Given the description of an element on the screen output the (x, y) to click on. 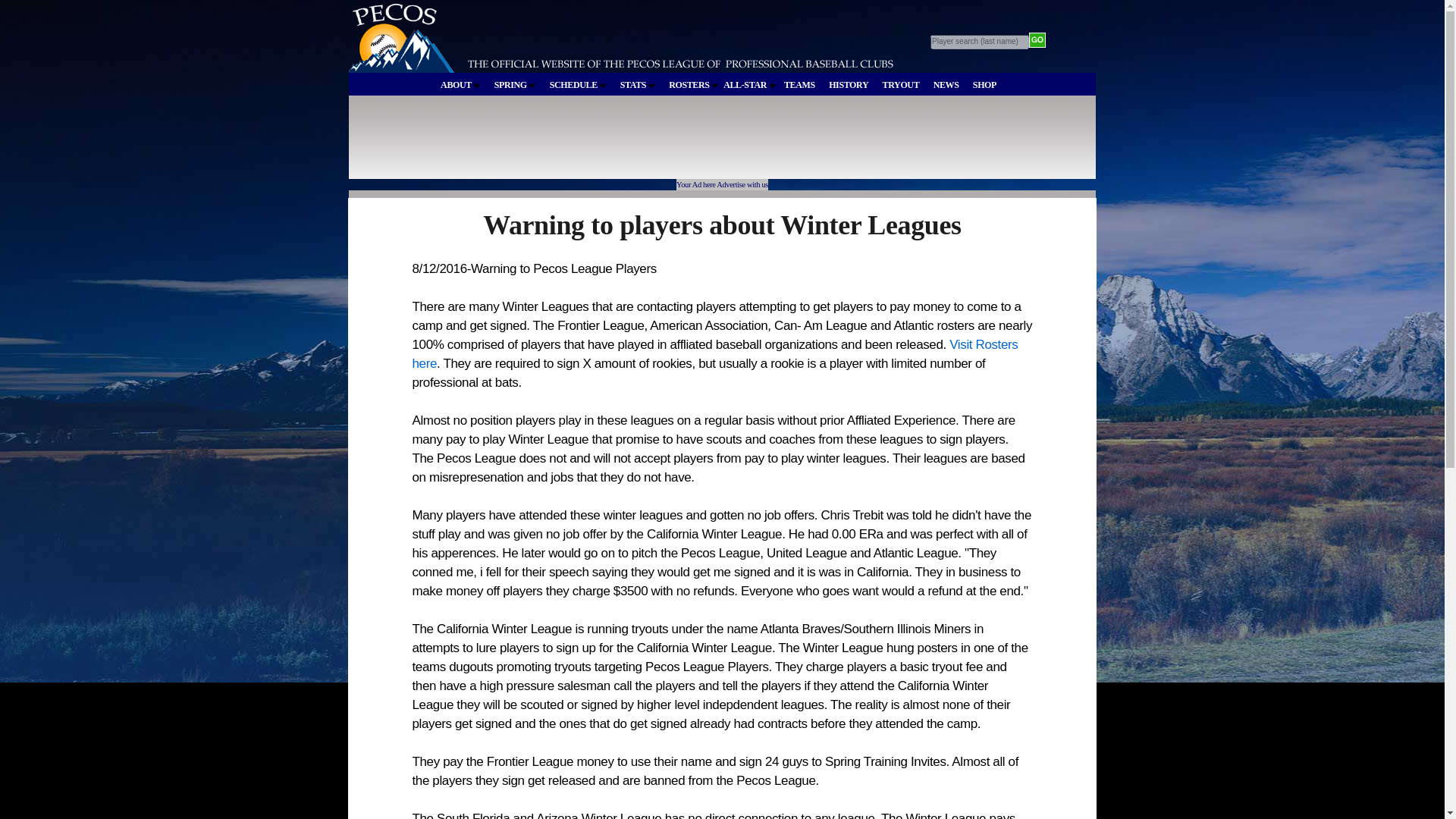
TEAMS (799, 84)
NEWS (945, 84)
ABOUT (459, 84)
SPRING (515, 84)
HISTORY (848, 84)
Advertisement (628, 144)
TRYOUT (900, 84)
ROSTERS (693, 84)
SCHEDULE (577, 84)
ALL-STAR (748, 84)
STATS (637, 84)
SHOP (984, 84)
